Given the description of an element on the screen output the (x, y) to click on. 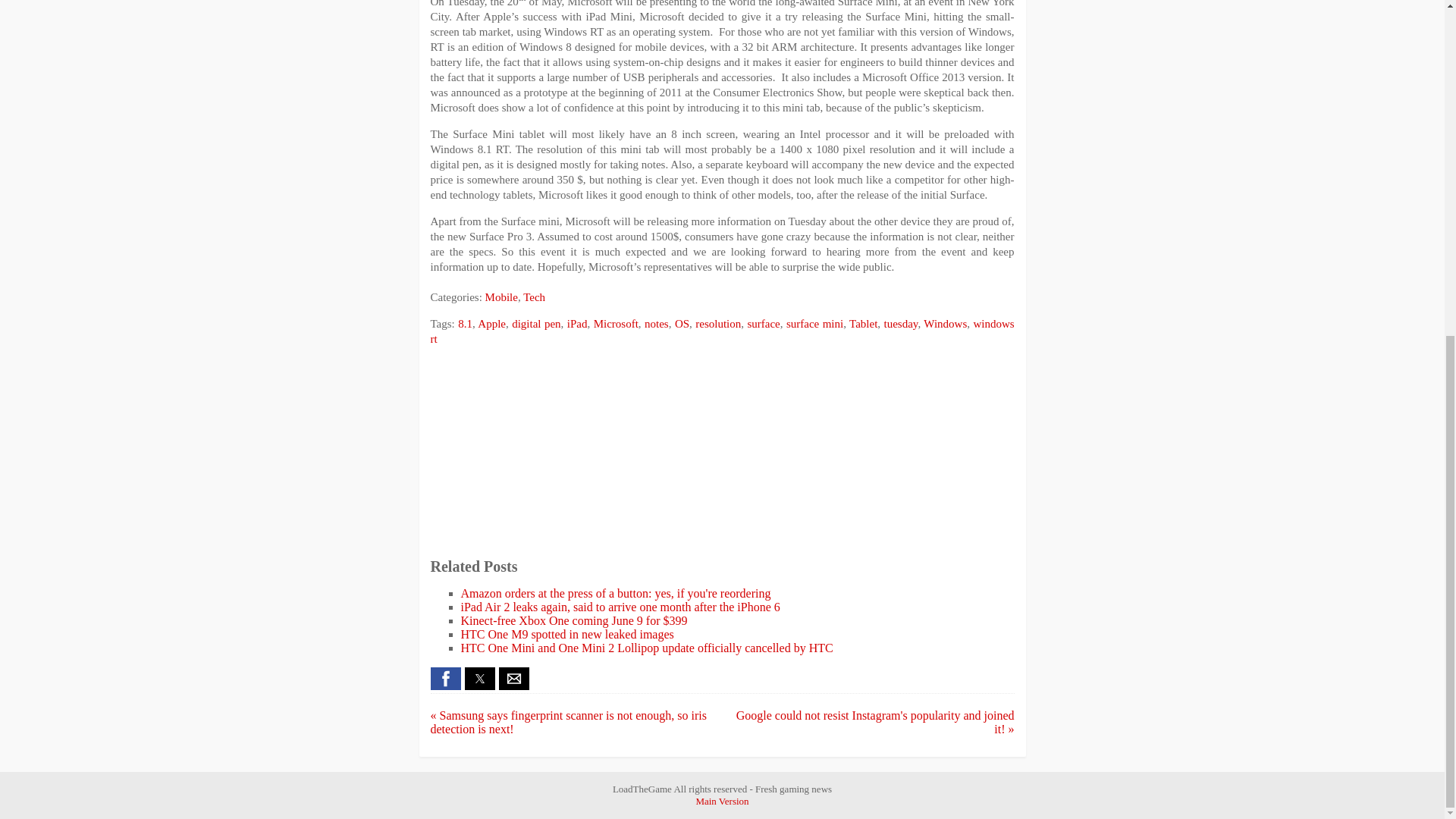
Tech (533, 297)
iPad (577, 323)
Microsoft (616, 323)
Mobile (501, 297)
HTC One M9 spotted in new leaked images (567, 634)
surface mini (814, 323)
8.1 (464, 323)
OS (681, 323)
